Given the description of an element on the screen output the (x, y) to click on. 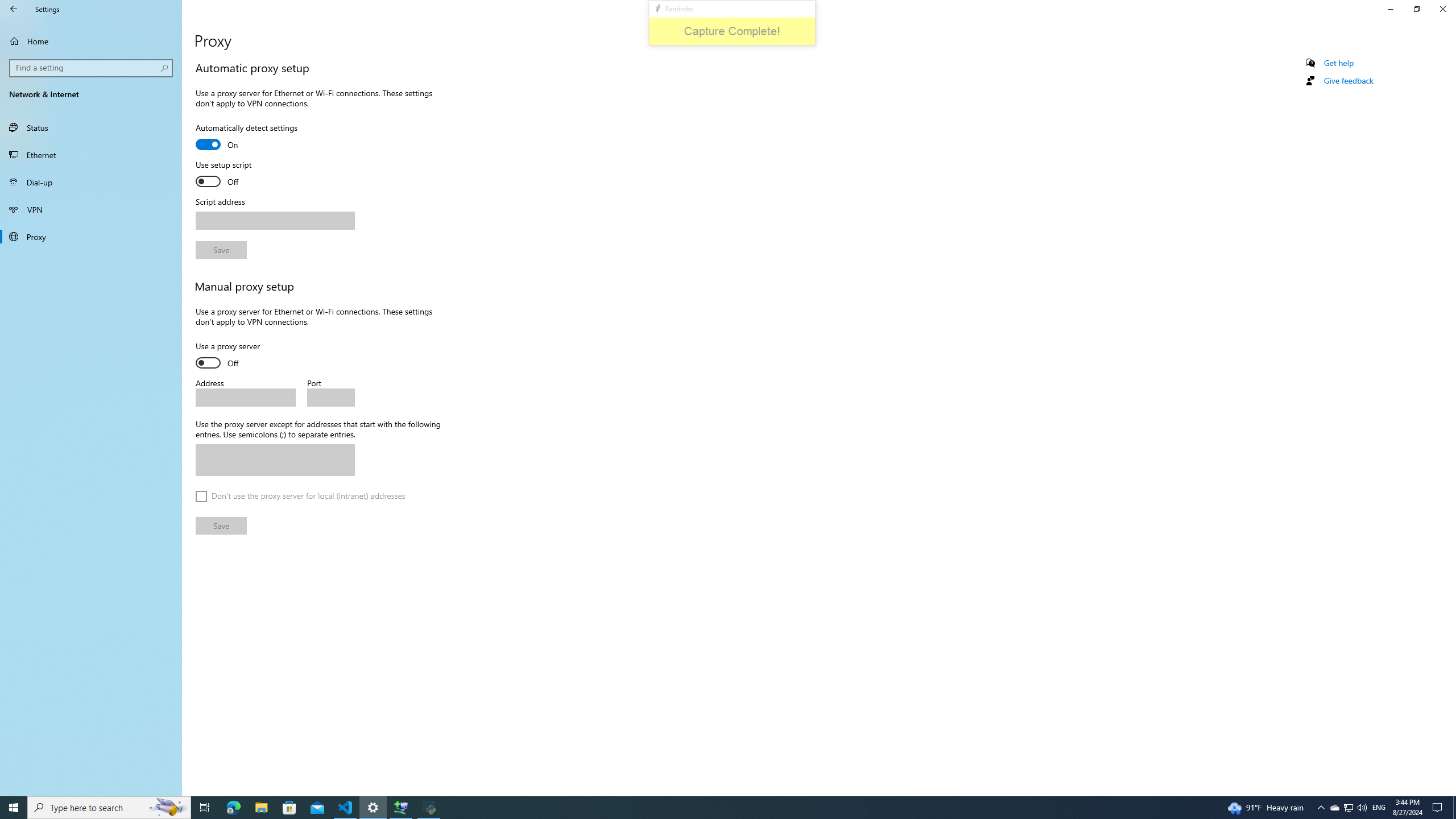
Dial-up (91, 181)
Close Settings (1442, 9)
VPN (91, 208)
Port (331, 397)
Get help (1338, 62)
Save (221, 525)
Address (245, 397)
